Given the description of an element on the screen output the (x, y) to click on. 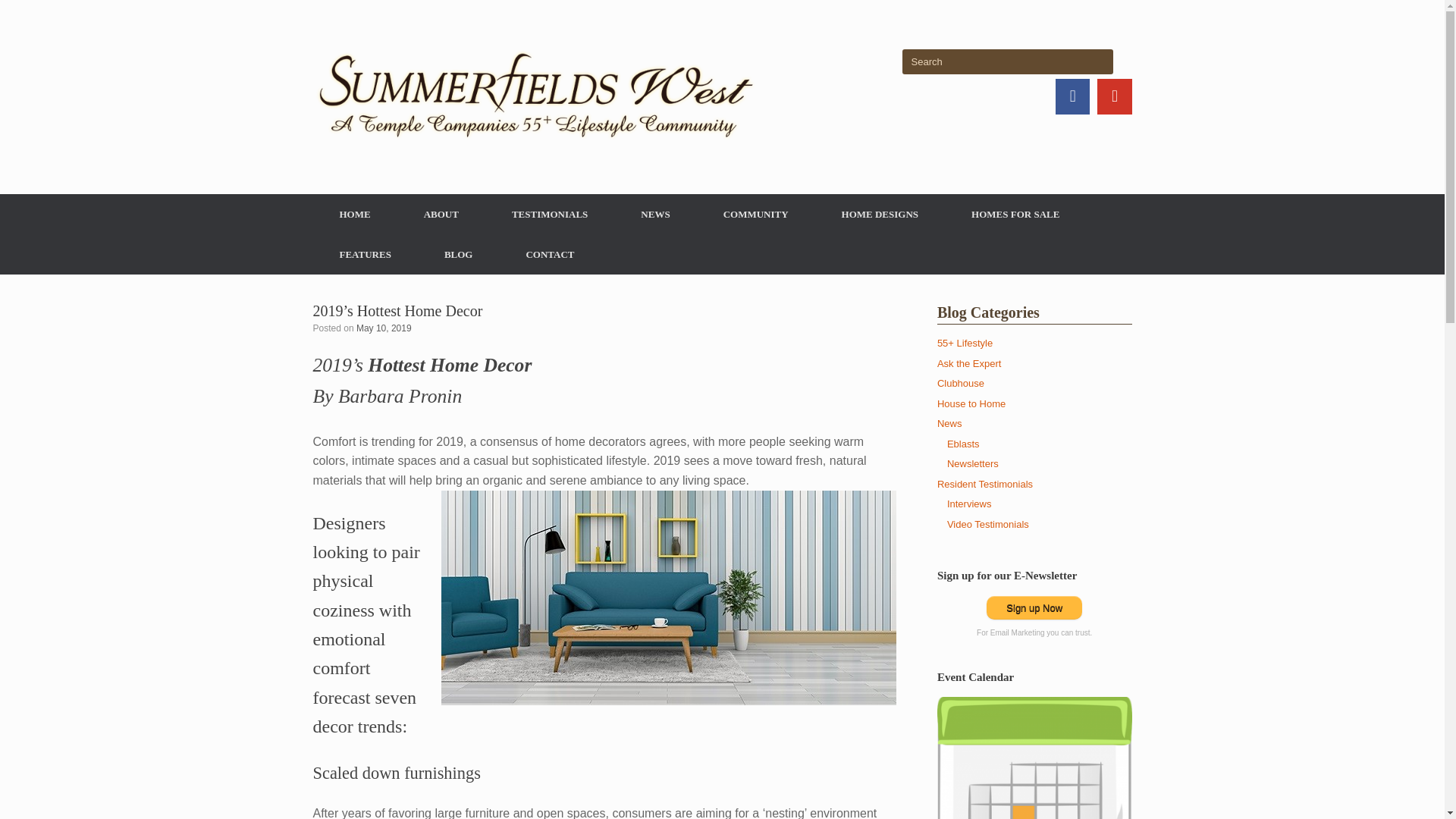
HOMES FOR SALE (1015, 214)
ABOUT (440, 214)
BLOG (458, 254)
NEWS (654, 214)
HOME DESIGNS (879, 214)
May 10, 2019 (384, 327)
COMMUNITY (756, 214)
TESTIMONIALS (549, 214)
HOME (354, 214)
Summerfields West on Youtube (1114, 95)
